Given the description of an element on the screen output the (x, y) to click on. 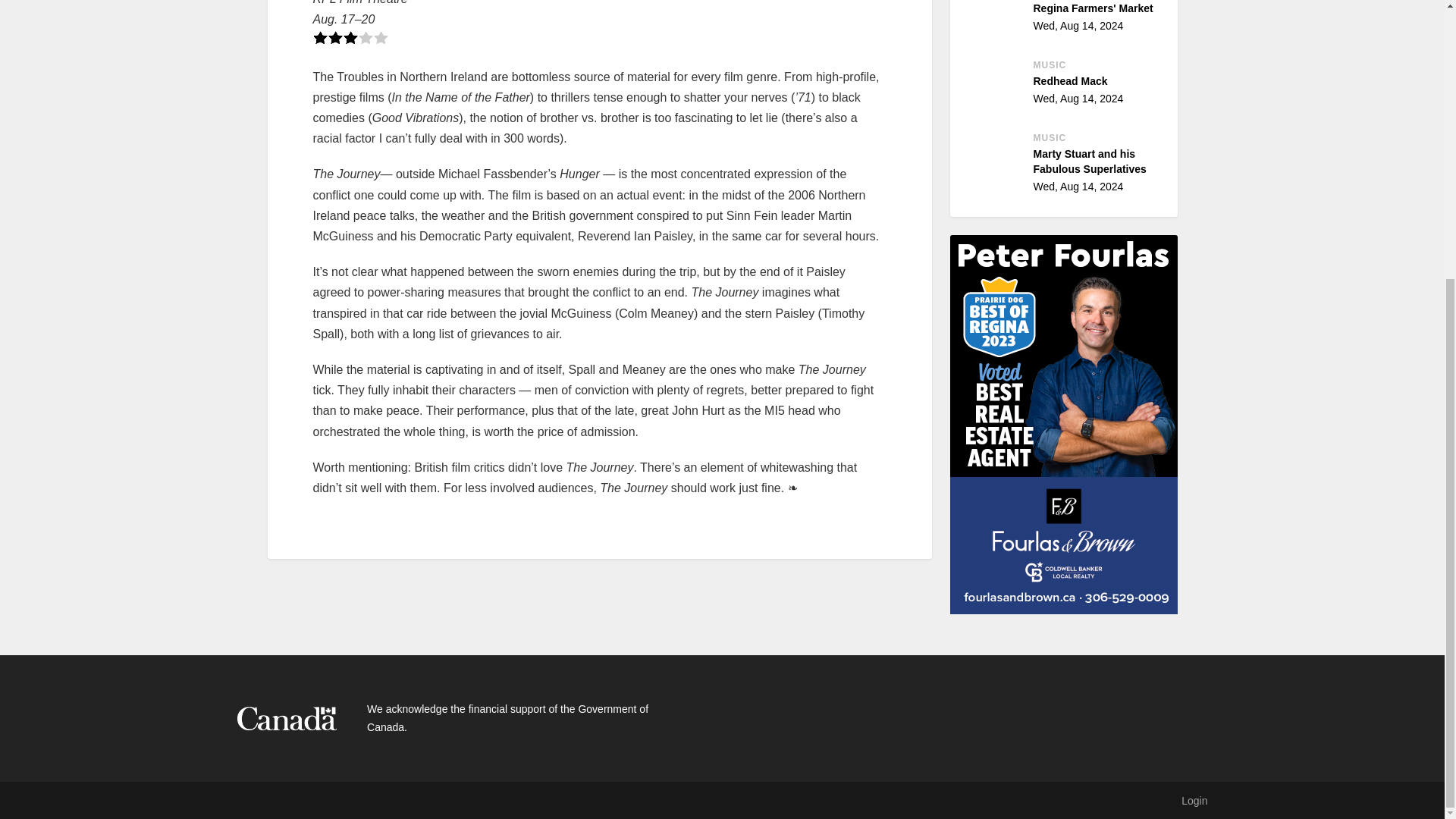
Premium WordPress Themes (336, 800)
Login (1193, 800)
Elegant Themes (1066, 87)
WordPress (336, 800)
